Given the description of an element on the screen output the (x, y) to click on. 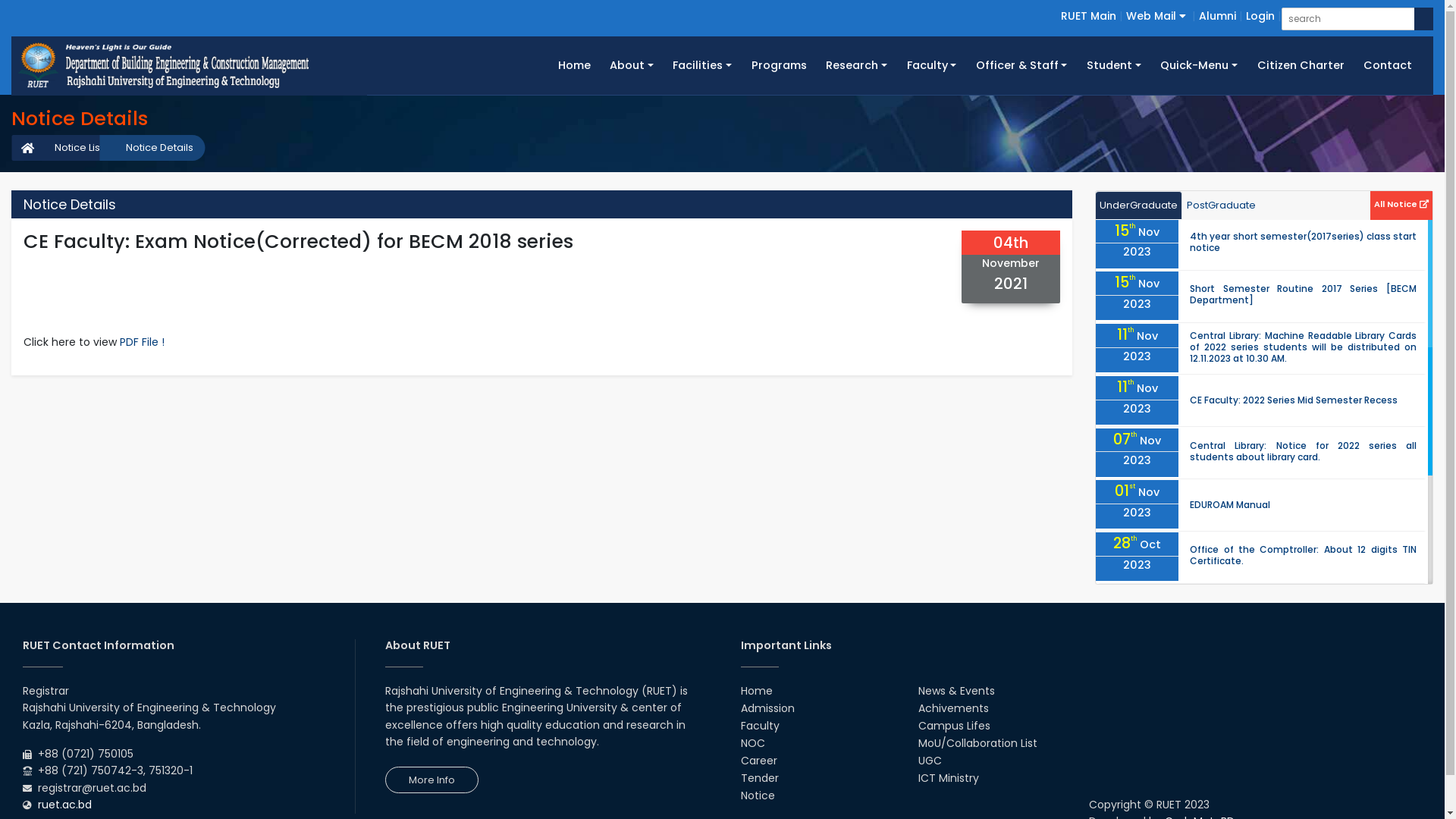
Citizen Charter Element type: text (1300, 65)
Office of the Comptroller: About 12 digits TIN Certificate. Element type: text (1302, 554)
RUET Main Element type: text (1088, 15)
CE Faculty: 2022 Series Mid Semester Recess Element type: text (1293, 399)
Home Element type: text (755, 690)
Security Section: Notice for security purpose. Element type: text (1294, 660)
Login Element type: text (1259, 15)
Notice Element type: text (757, 795)
Research Element type: text (855, 65)
All Notice Element type: text (1401, 203)
Admission Element type: text (766, 707)
ICT Ministry Element type: text (948, 777)
Web Mail Element type: text (1156, 15)
Contact Element type: text (1387, 65)
UnderGraduate Element type: text (1138, 205)
UGC Element type: text (929, 760)
Achivements Element type: text (953, 707)
Facilities Element type: text (702, 65)
Notice List Element type: text (71, 147)
Programs Element type: text (778, 65)
Alumni Element type: text (1217, 15)
MoU/Collaboration List Element type: text (977, 742)
Notice Details Element type: text (151, 147)
Quick-Menu Element type: text (1199, 65)
PostGraduate Element type: text (1221, 205)
Campus Lifes Element type: text (954, 725)
NOC Element type: text (752, 742)
Home
(Current) Element type: text (574, 65)
ruet.ac.bd Element type: text (64, 804)
Student Element type: text (1113, 65)
Faculty Element type: text (931, 65)
Officer & Staff Element type: text (1021, 65)
Faculty Element type: text (759, 725)
Tender Element type: text (759, 777)
PDF File ! Element type: text (141, 341)
EDUROAM Manual Element type: text (1229, 504)
News & Events Element type: text (956, 690)
Career Element type: text (758, 760)
4th year short semester(2017series) class start notice Element type: text (1302, 241)
Short Semester Routine 2017 Series [BECM Department] Element type: text (1302, 293)
About Element type: text (630, 65)
More Info Element type: text (431, 779)
